Given the description of an element on the screen output the (x, y) to click on. 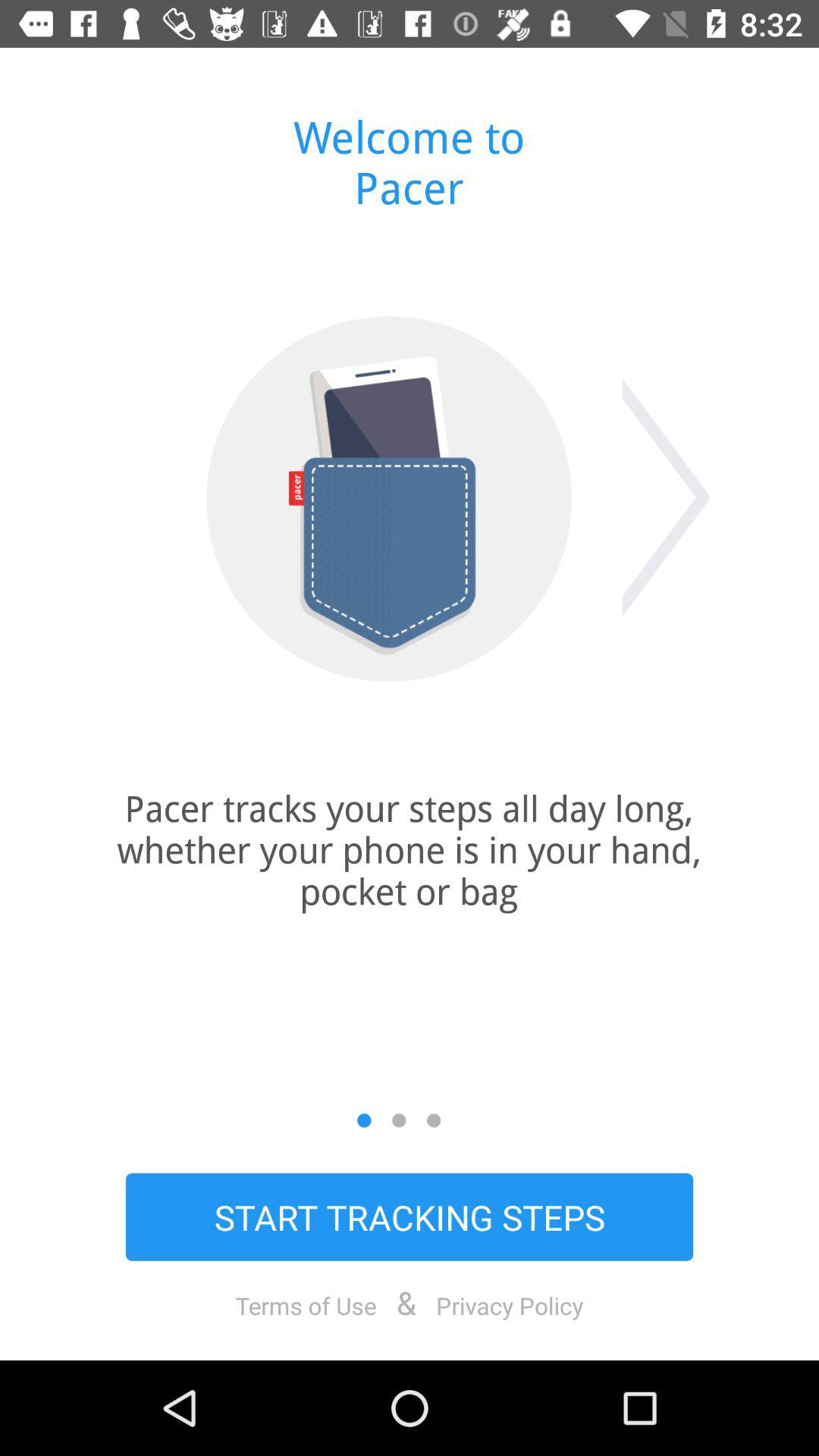
choose start tracking steps icon (409, 1217)
